Given the description of an element on the screen output the (x, y) to click on. 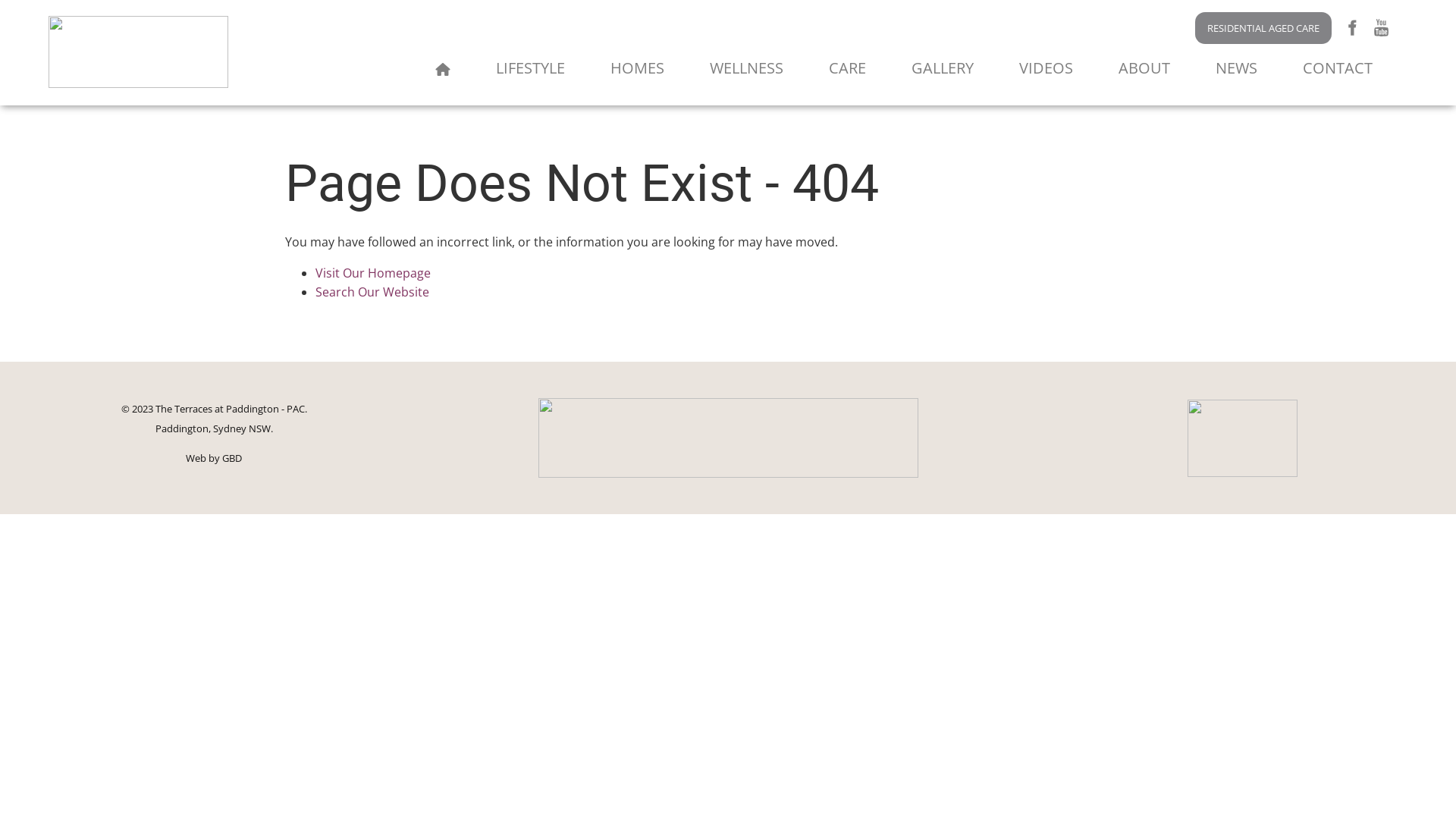
WELLNESS Element type: text (746, 68)
GALLERY Element type: text (942, 68)
ABOUT Element type: text (1143, 68)
NEWS Element type: text (1236, 68)
VIDEOS Element type: text (1045, 68)
RESIDENTIAL AGED CARE Element type: text (1263, 27)
HOMES Element type: text (637, 68)
Search Our Website Element type: text (372, 291)
CONTACT Element type: text (1337, 68)
LIFESTYLE Element type: text (530, 68)
Youtube Element type: hover (1381, 27)
Facebook Element type: hover (1351, 27)
Visit Our Homepage Element type: text (372, 272)
Web by GBD Element type: text (213, 457)
CARE Element type: text (847, 68)
